Given the description of an element on the screen output the (x, y) to click on. 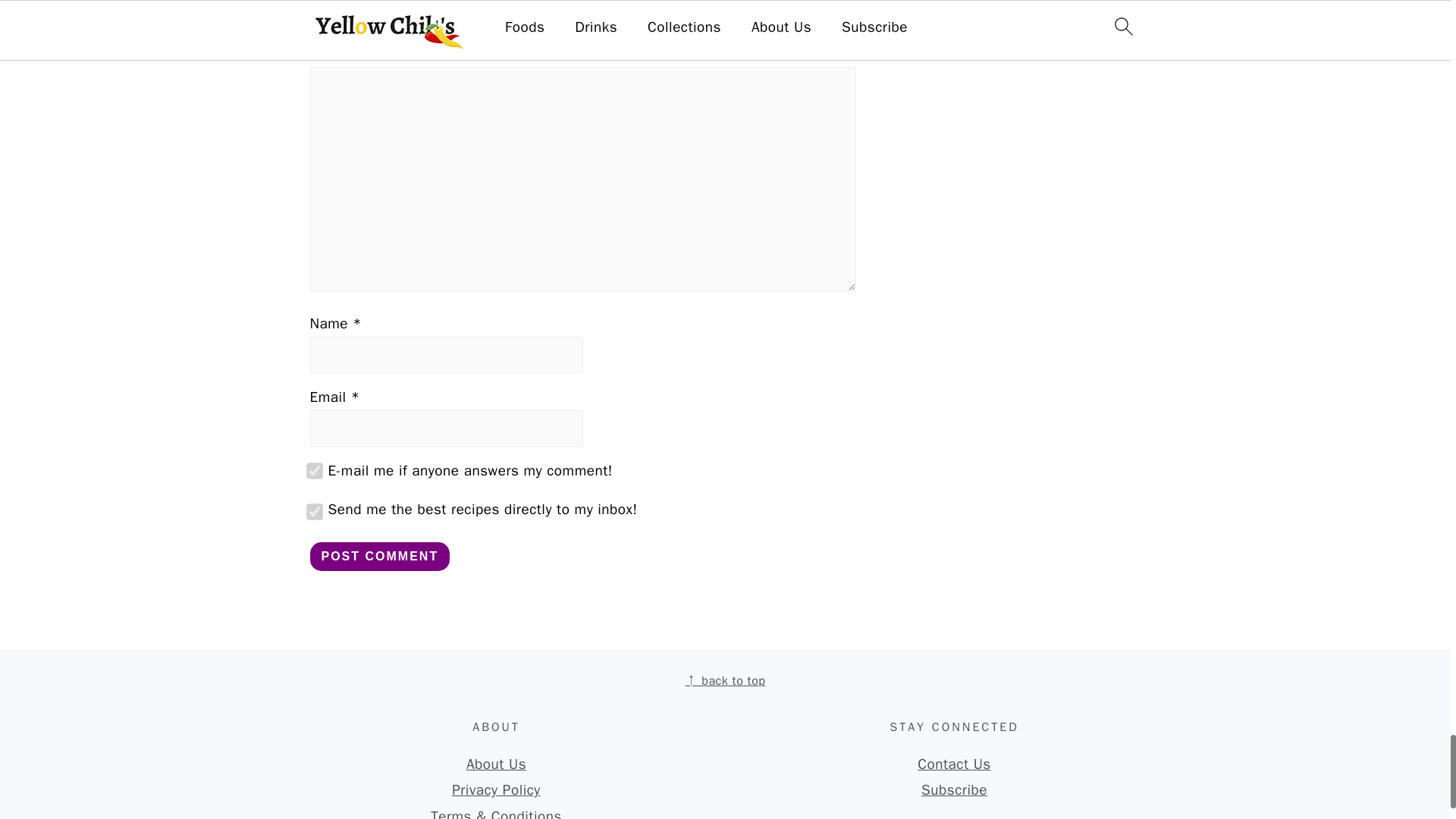
yes (310, 507)
Post Comment (378, 556)
on (310, 467)
